Given the description of an element on the screen output the (x, y) to click on. 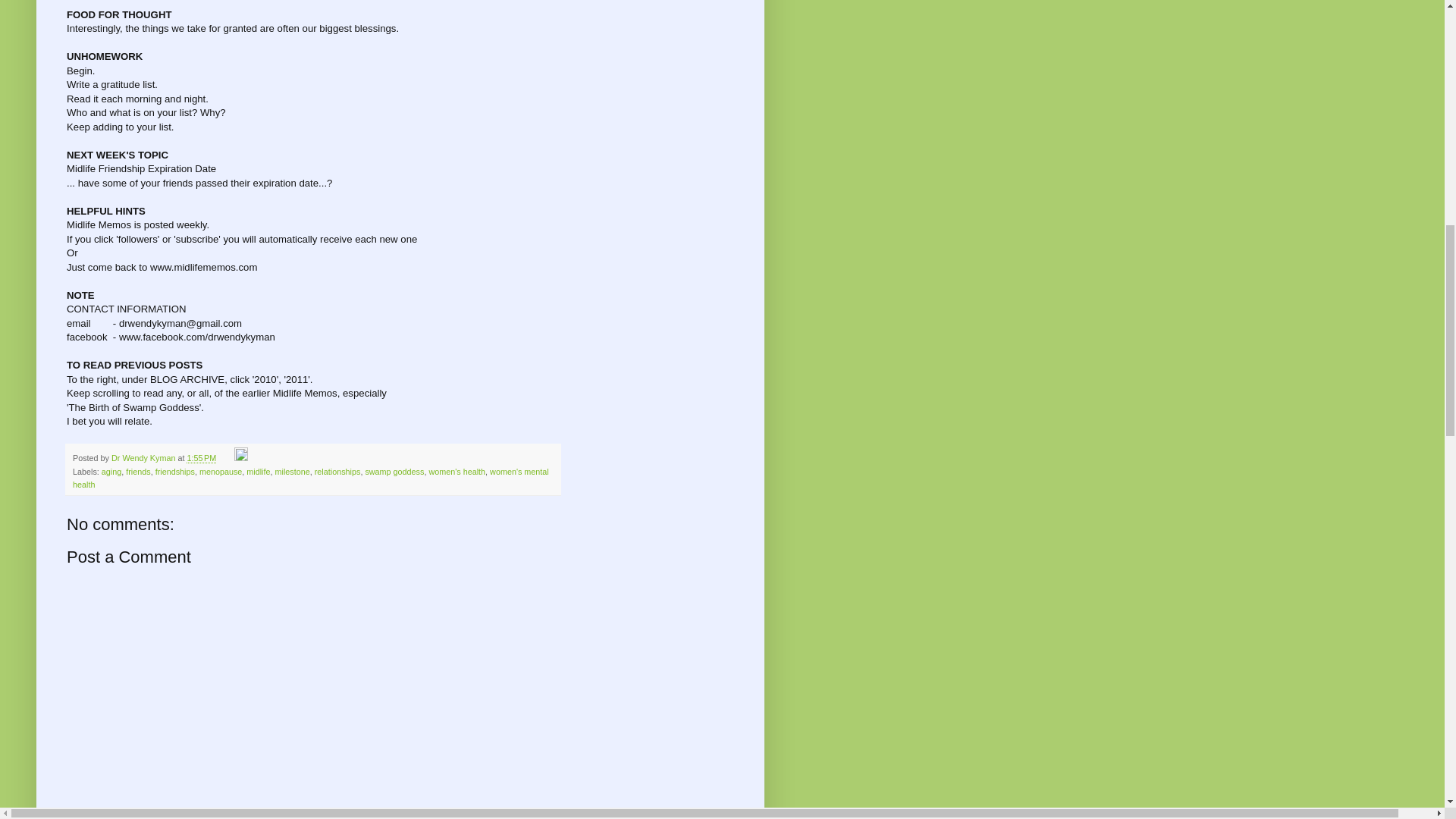
friends (137, 470)
midlife (257, 470)
women's health (456, 470)
friendships (175, 470)
author profile (144, 457)
swamp goddess (394, 470)
relationships (337, 470)
women's mental health (310, 477)
permanent link (200, 457)
Dr Wendy Kyman (144, 457)
Edit Post (240, 457)
menopause (220, 470)
aging (110, 470)
Email Post (226, 457)
